Given the description of an element on the screen output the (x, y) to click on. 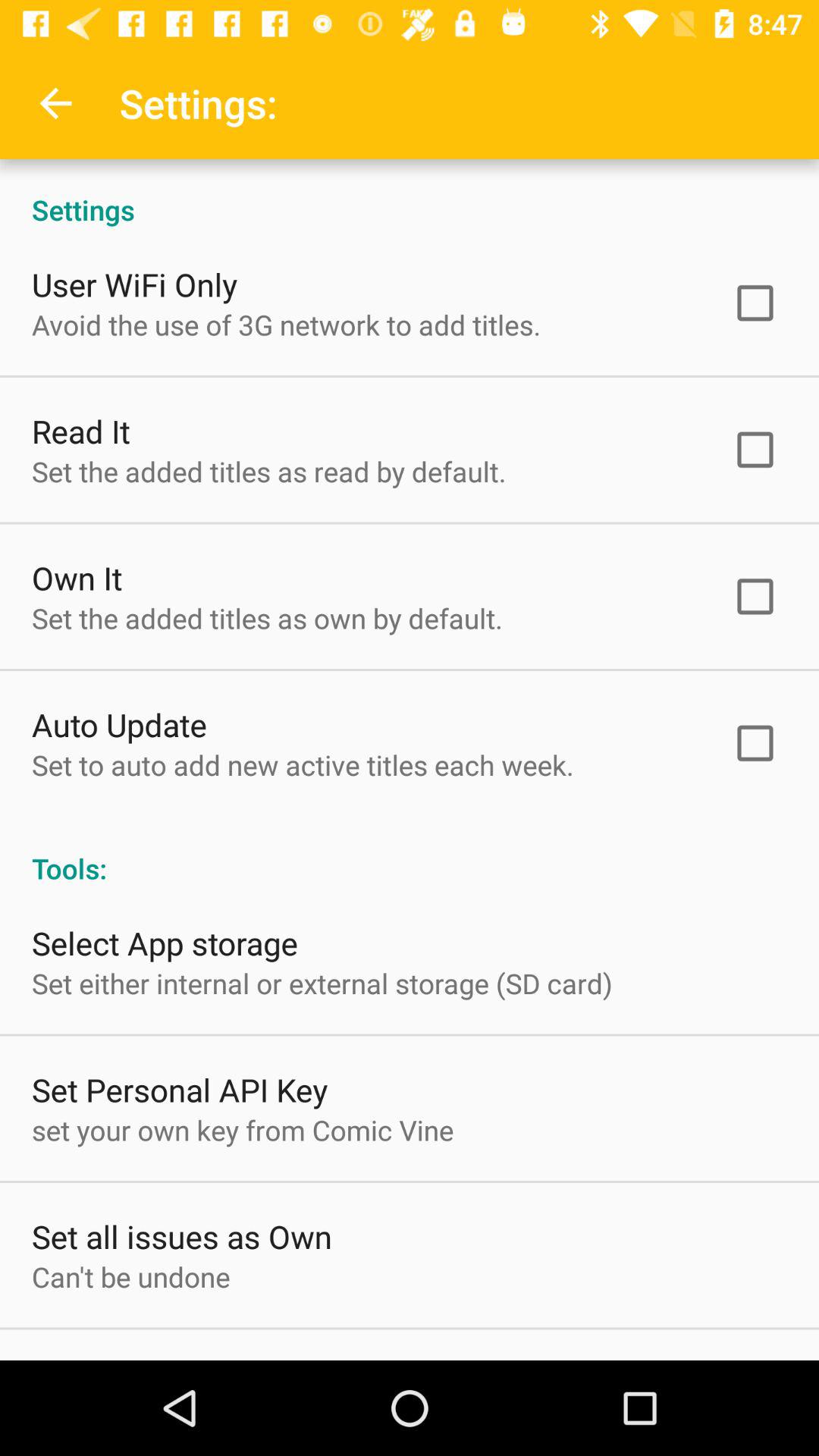
tap set personal api (179, 1089)
